Given the description of an element on the screen output the (x, y) to click on. 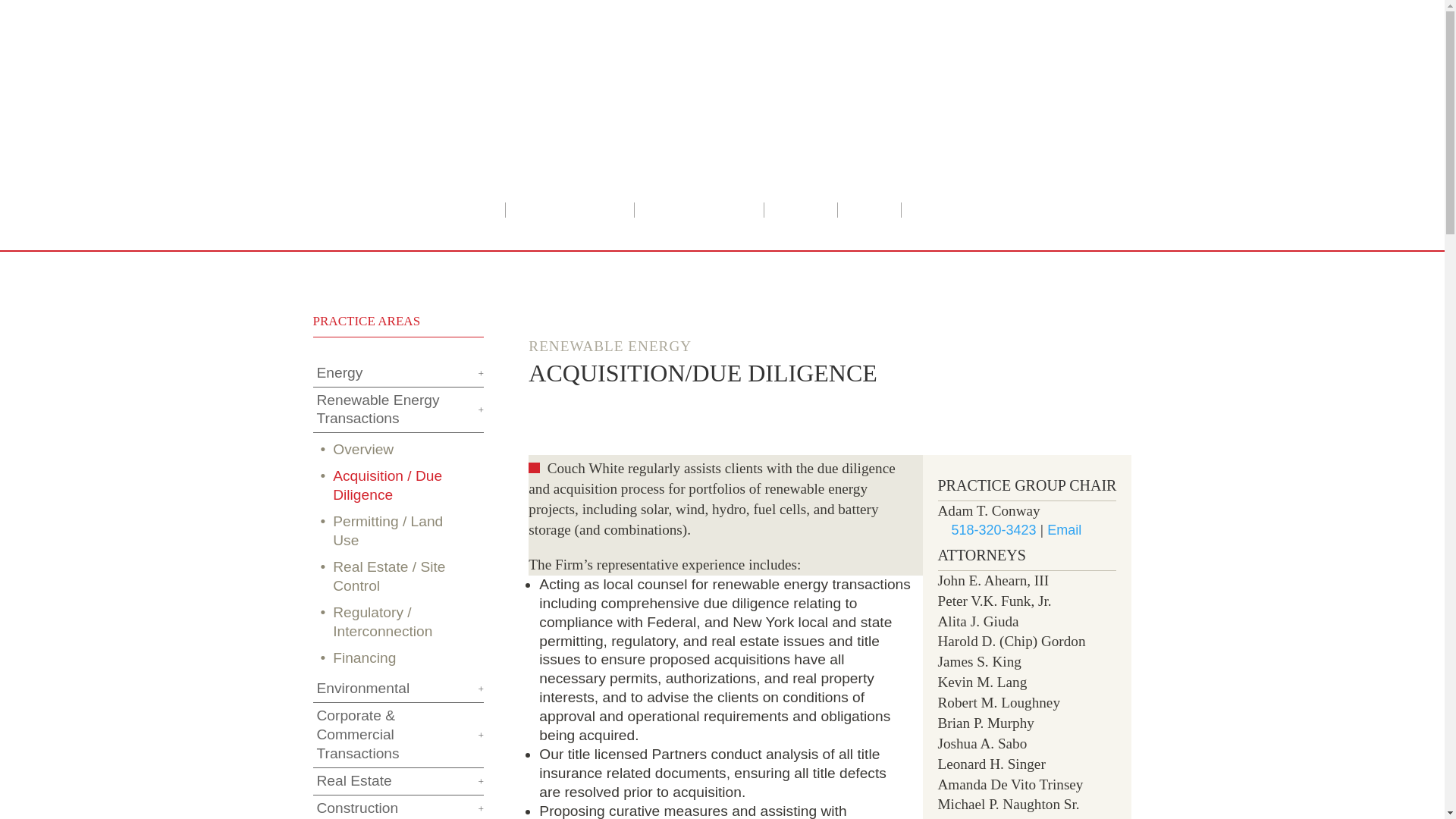
Couch White Logo (500, 110)
PRACTICE AREAS (697, 210)
HOME (473, 210)
ABOUT THE FIRM (569, 210)
